Given the description of an element on the screen output the (x, y) to click on. 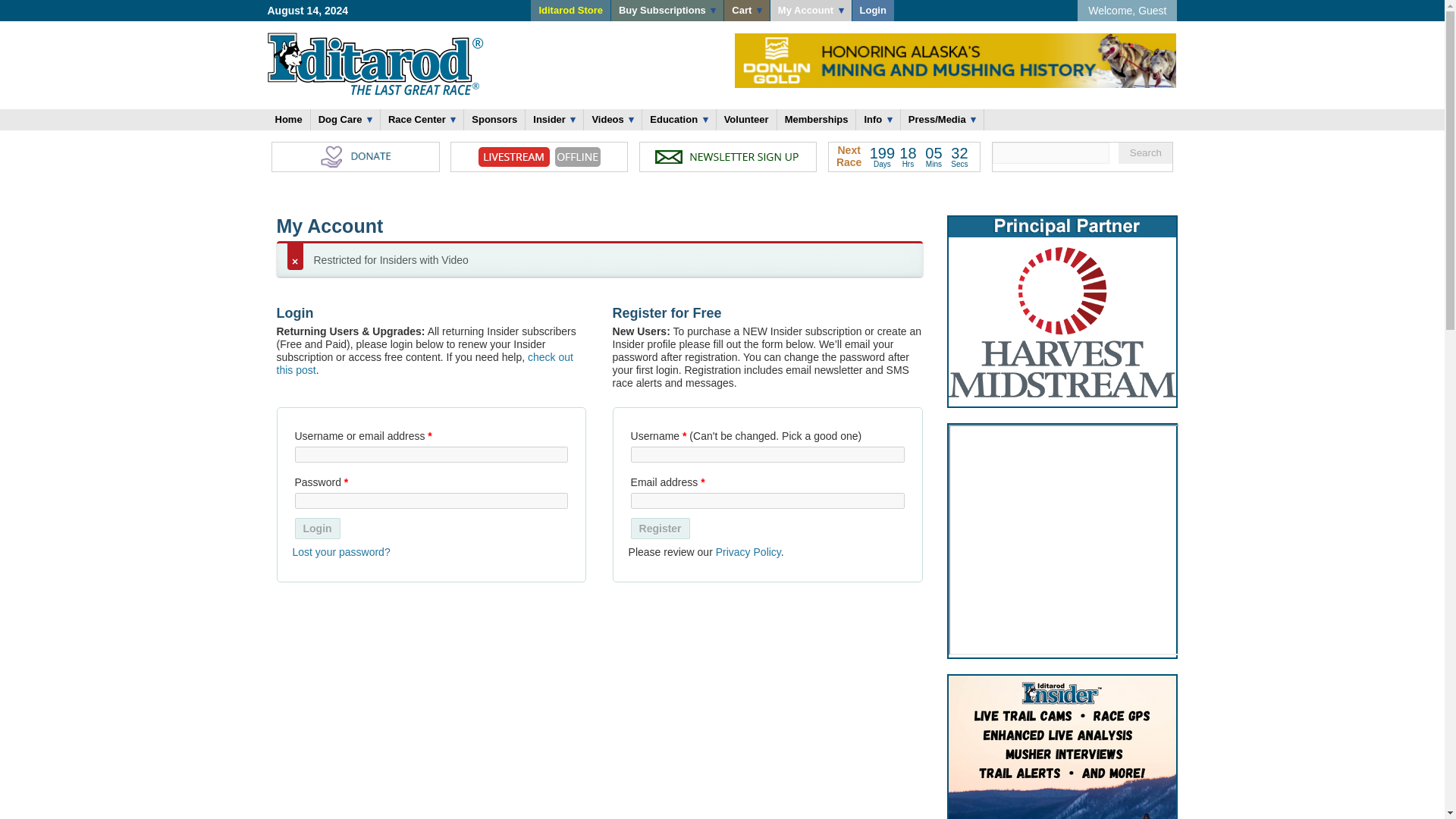
Login (872, 10)
Cart (746, 10)
Iditarod Store (570, 10)
Home (287, 119)
Buy Subscriptions (667, 10)
Race Center (421, 119)
Search (1145, 152)
My Account (810, 10)
Dog Care (345, 119)
Register (660, 527)
